Given the description of an element on the screen output the (x, y) to click on. 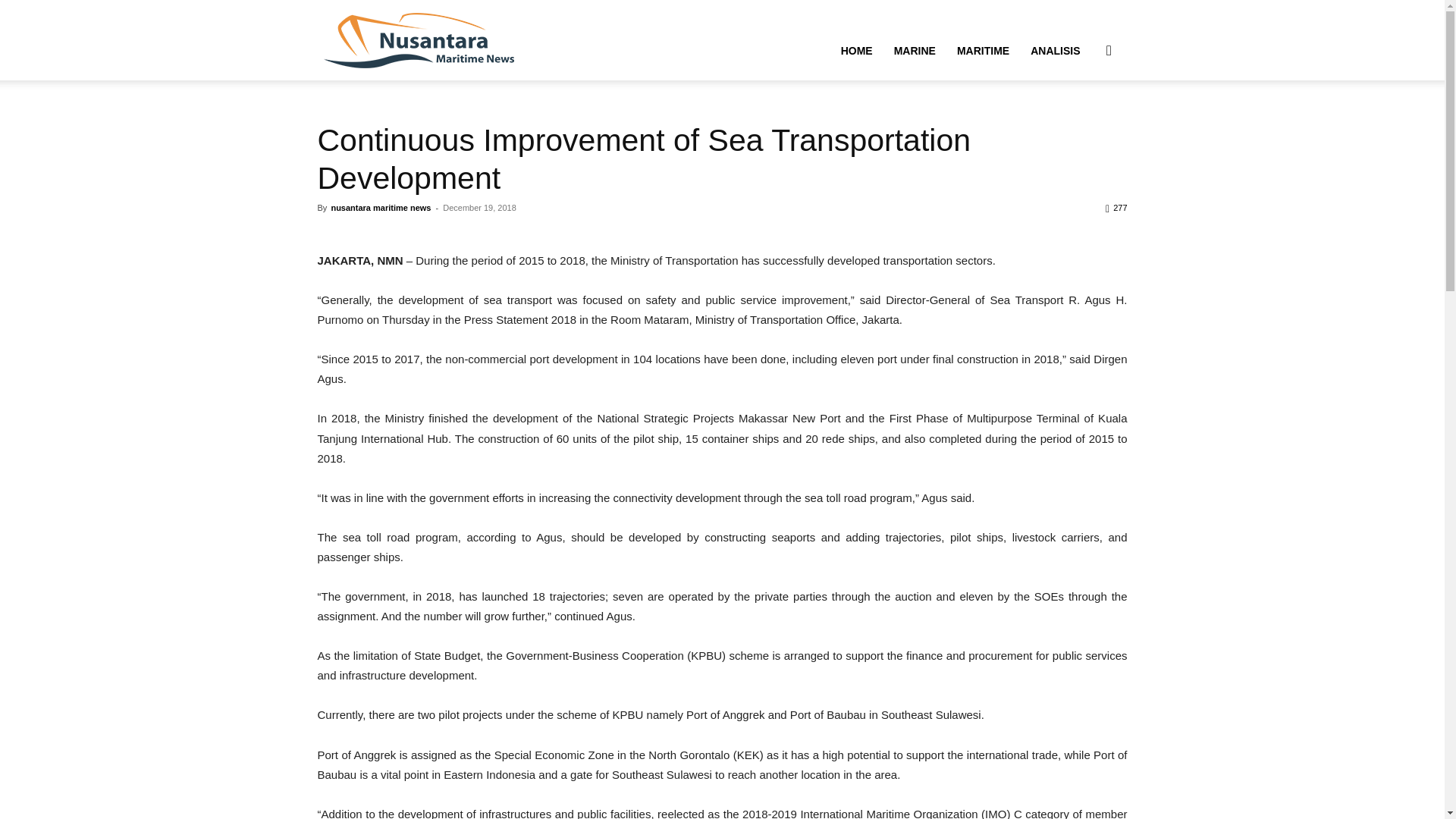
MARITIME (983, 50)
HOME (856, 50)
ANALISIS (1055, 50)
nusantara maritime news (380, 207)
Search (1085, 122)
MARINE (914, 50)
NUSANTARAMARITIMENEWS (418, 39)
